Given the description of an element on the screen output the (x, y) to click on. 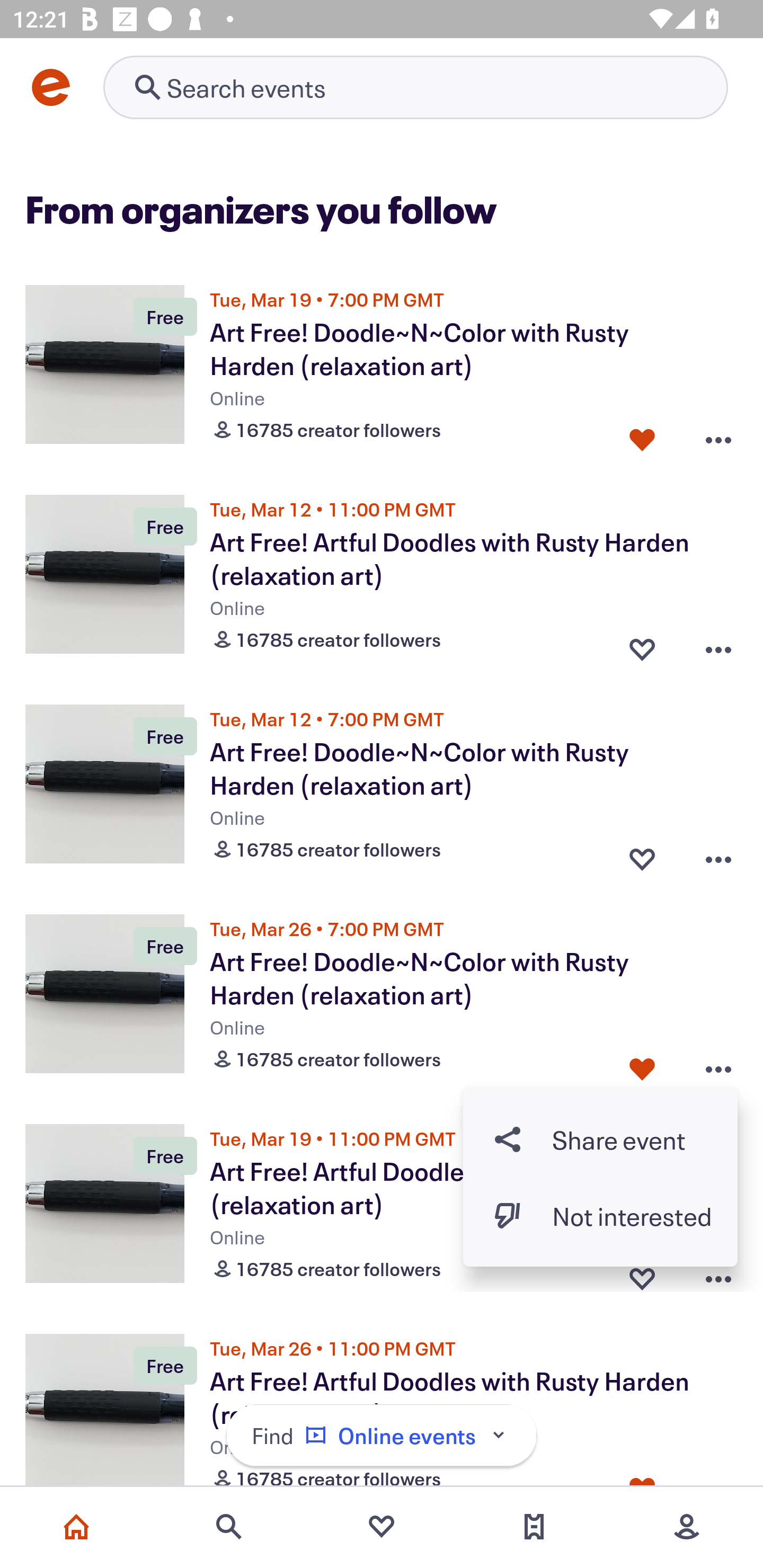
Share button Share event (600, 1138)
Dislike event button Not interested (600, 1215)
